Given the description of an element on the screen output the (x, y) to click on. 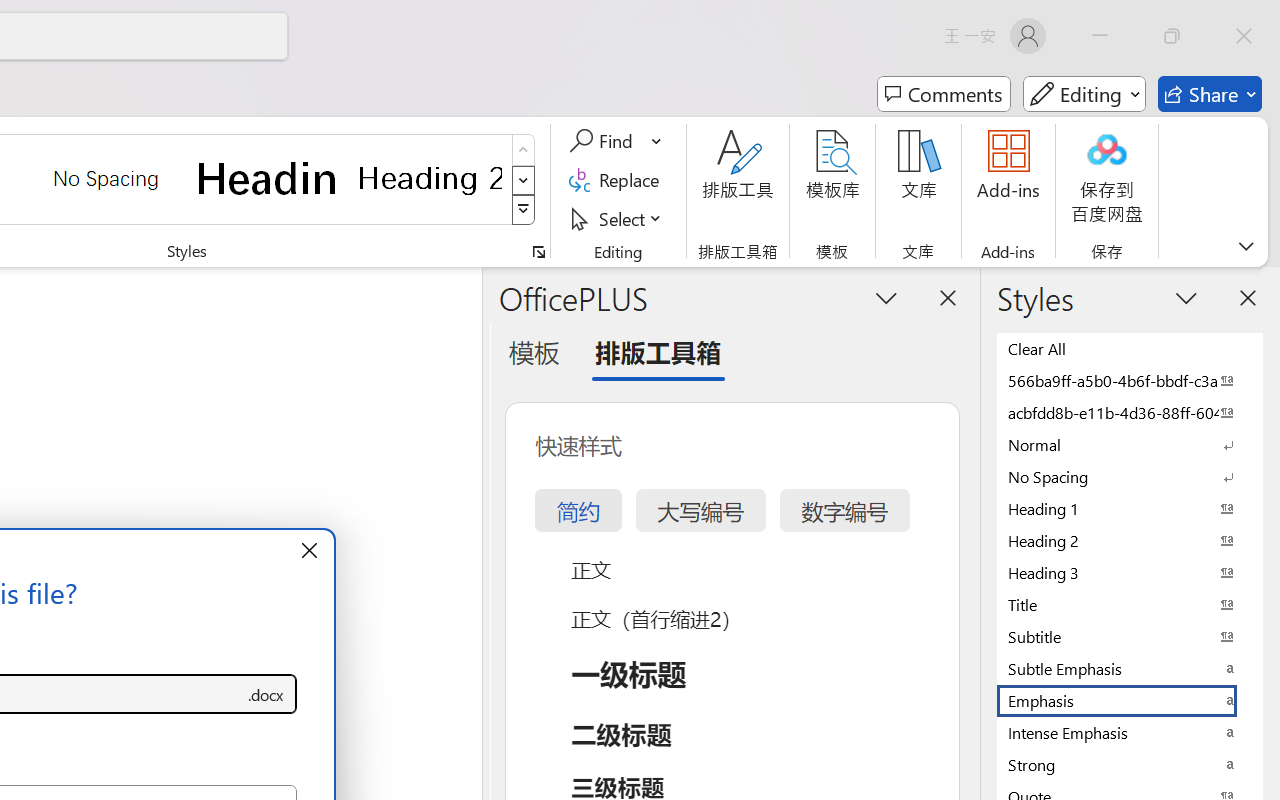
Minimize (1099, 36)
Heading 1 (267, 178)
Heading 2 (429, 178)
566ba9ff-a5b0-4b6f-bbdf-c3ab41993fc2 (1130, 380)
Find (604, 141)
Select (618, 218)
Clear All (1130, 348)
Close (1244, 36)
Save as type (265, 694)
Row Down (523, 180)
Class: NetUIImage (523, 210)
